Given the description of an element on the screen output the (x, y) to click on. 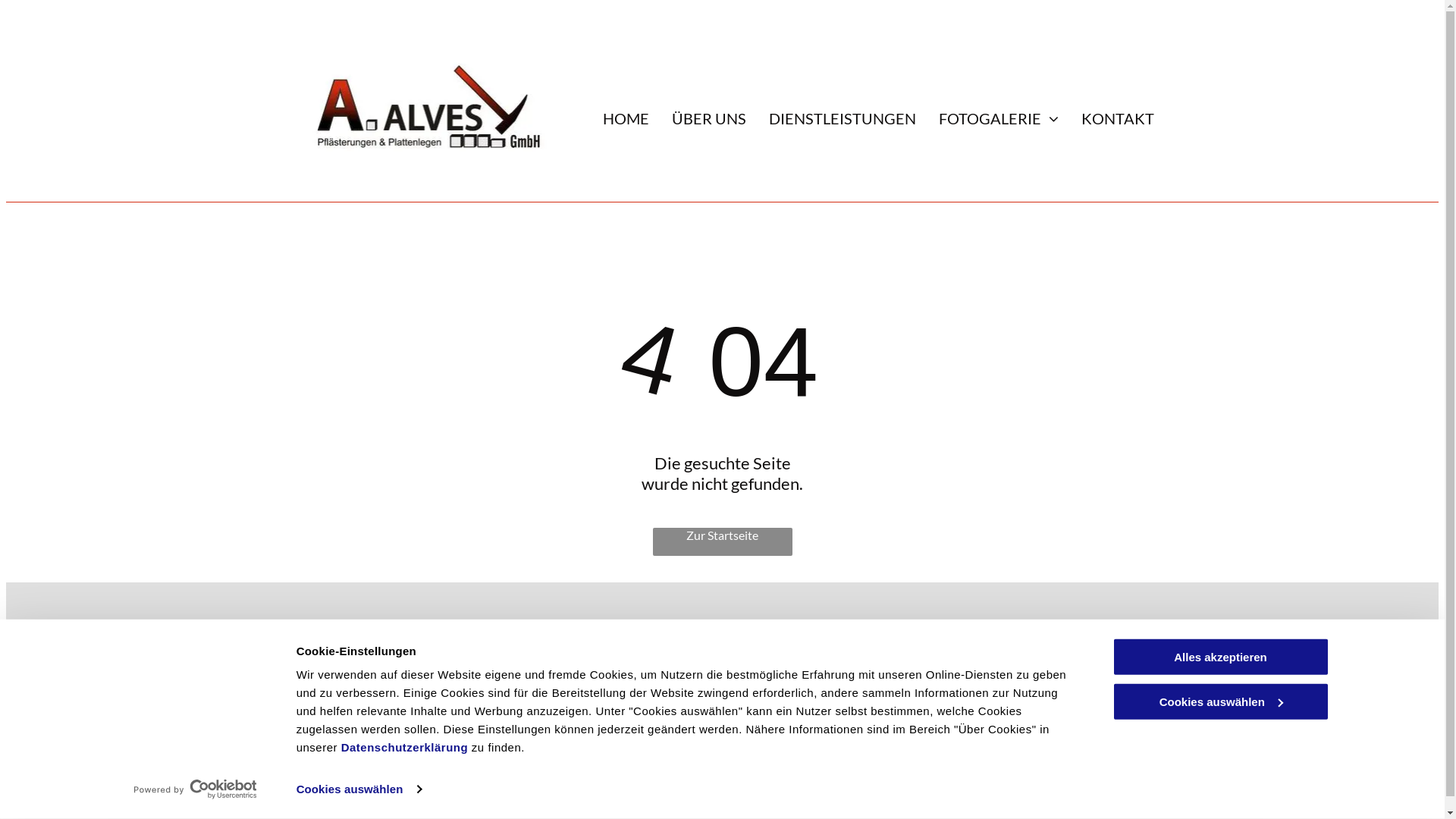
KONTAKT Element type: text (1117, 118)
076 322 87 21 Element type: text (540, 643)
FOTOGALERIE Element type: text (998, 118)
info@armindoalves.ch Element type: text (559, 696)
DIENSTLEISTUNGEN Element type: text (842, 118)
HOME Element type: text (625, 118)
Zur Startseite Element type: text (721, 541)
Alles akzeptieren Element type: text (1219, 656)
Impressum Element type: text (754, 653)
